Given the description of an element on the screen output the (x, y) to click on. 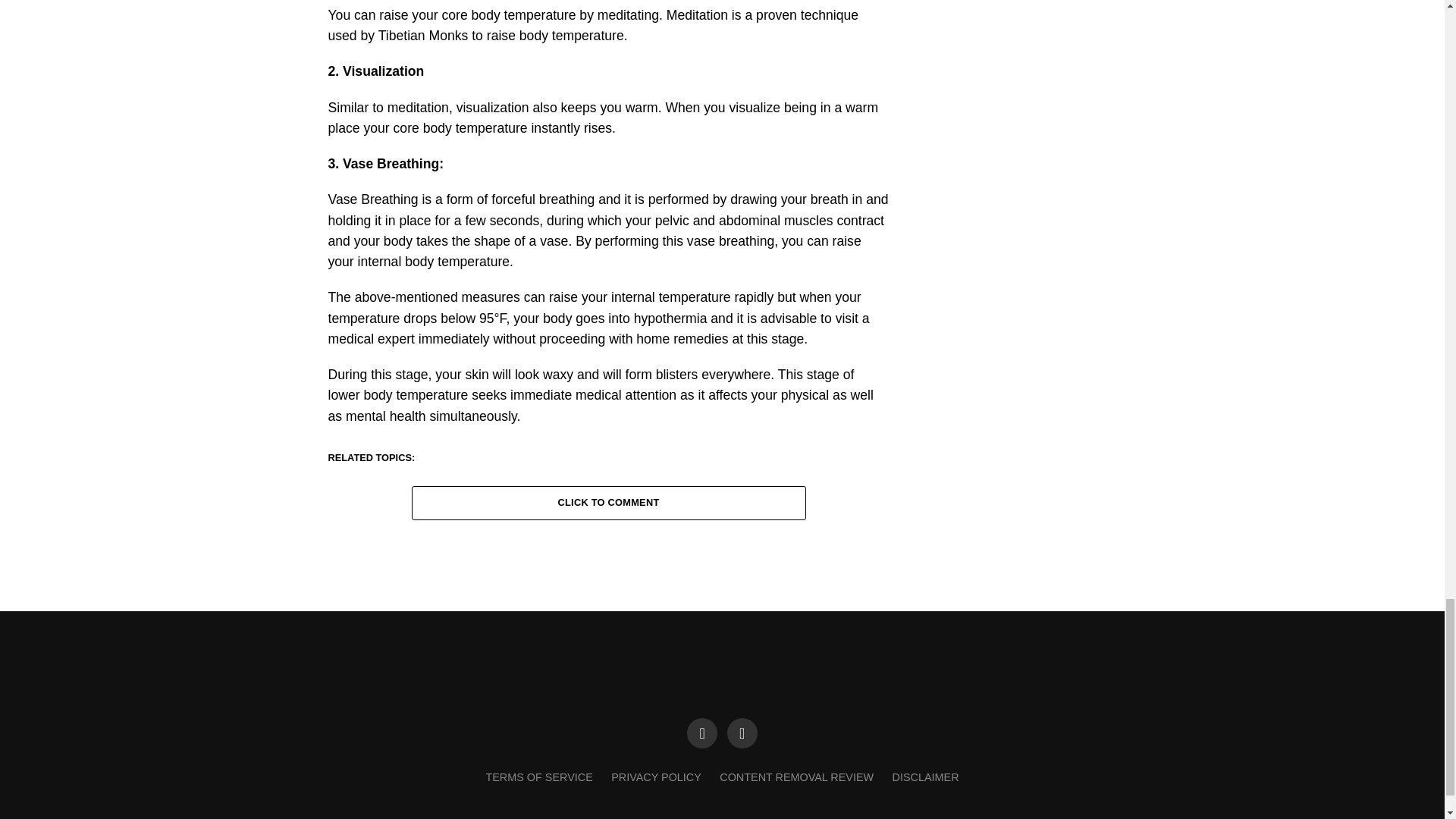
PRIVACY POLICY (656, 776)
CONTENT REMOVAL REVIEW (796, 776)
TERMS OF SERVICE (538, 776)
DISCLAIMER (925, 776)
